Given the description of an element on the screen output the (x, y) to click on. 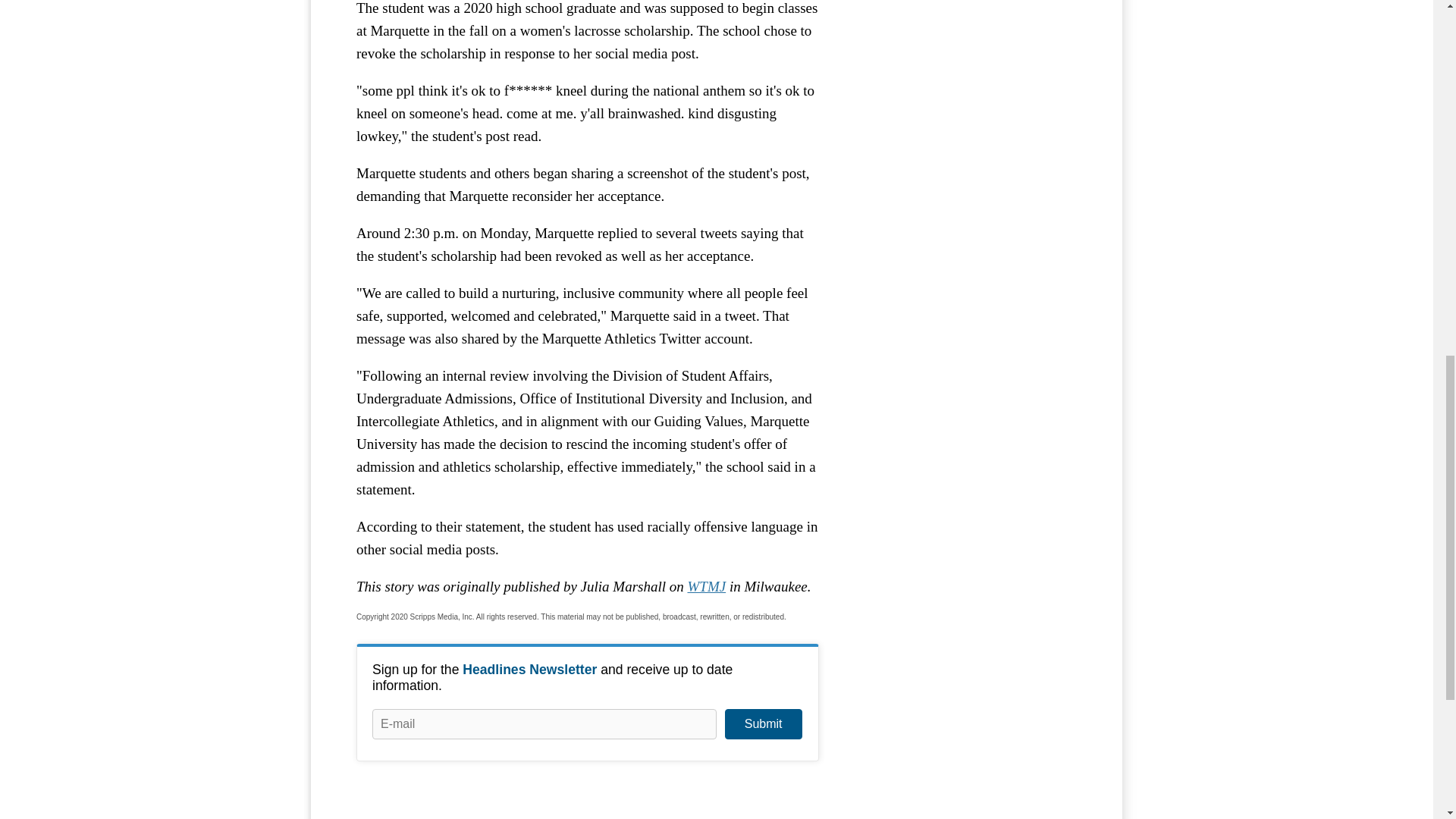
Submit (763, 724)
